Given the description of an element on the screen output the (x, y) to click on. 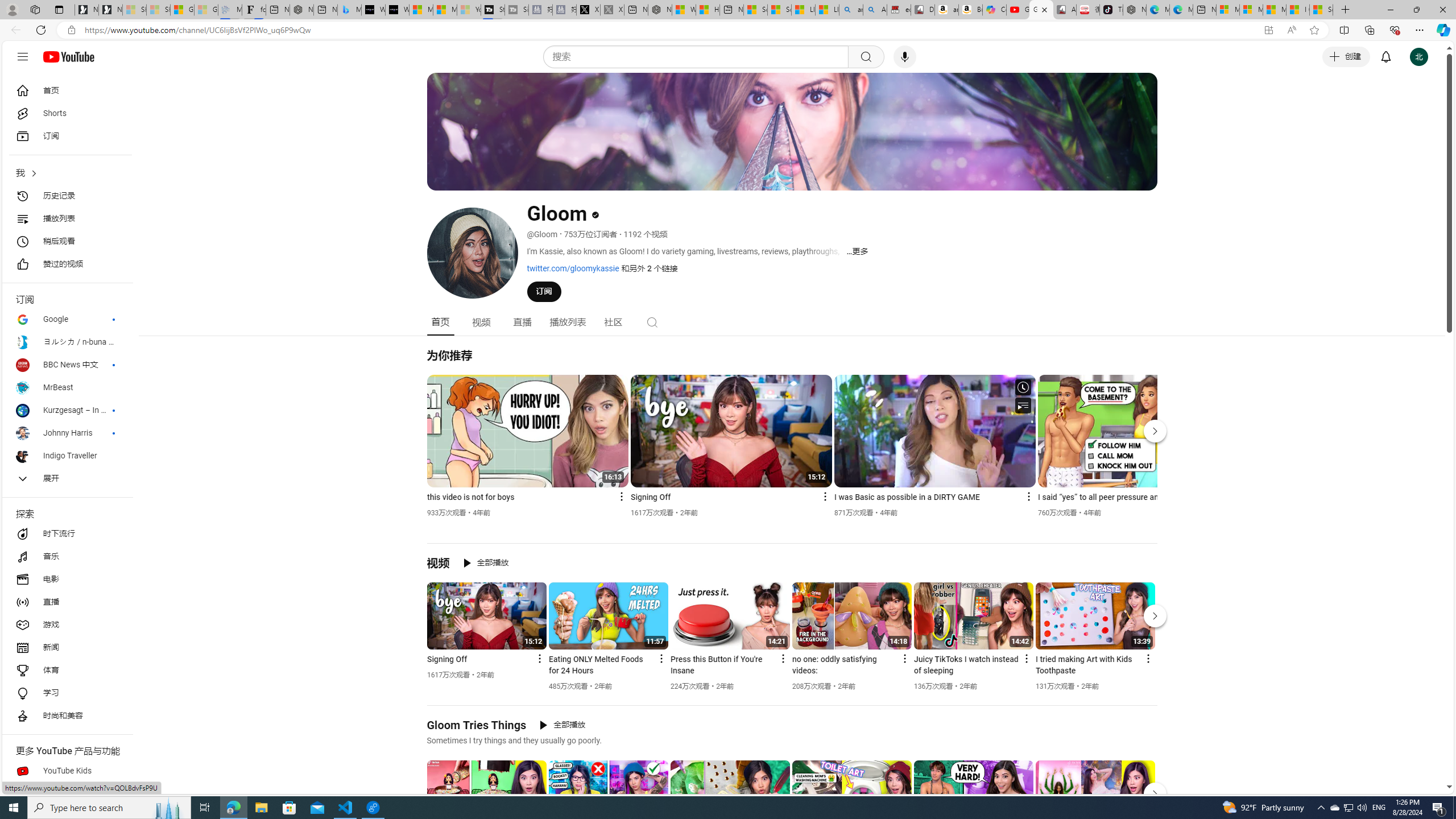
Newsletter Sign Up (110, 9)
Streaming Coverage | T3 (492, 9)
Amazon Echo Dot PNG - Search Images (874, 9)
